Given the description of an element on the screen output the (x, y) to click on. 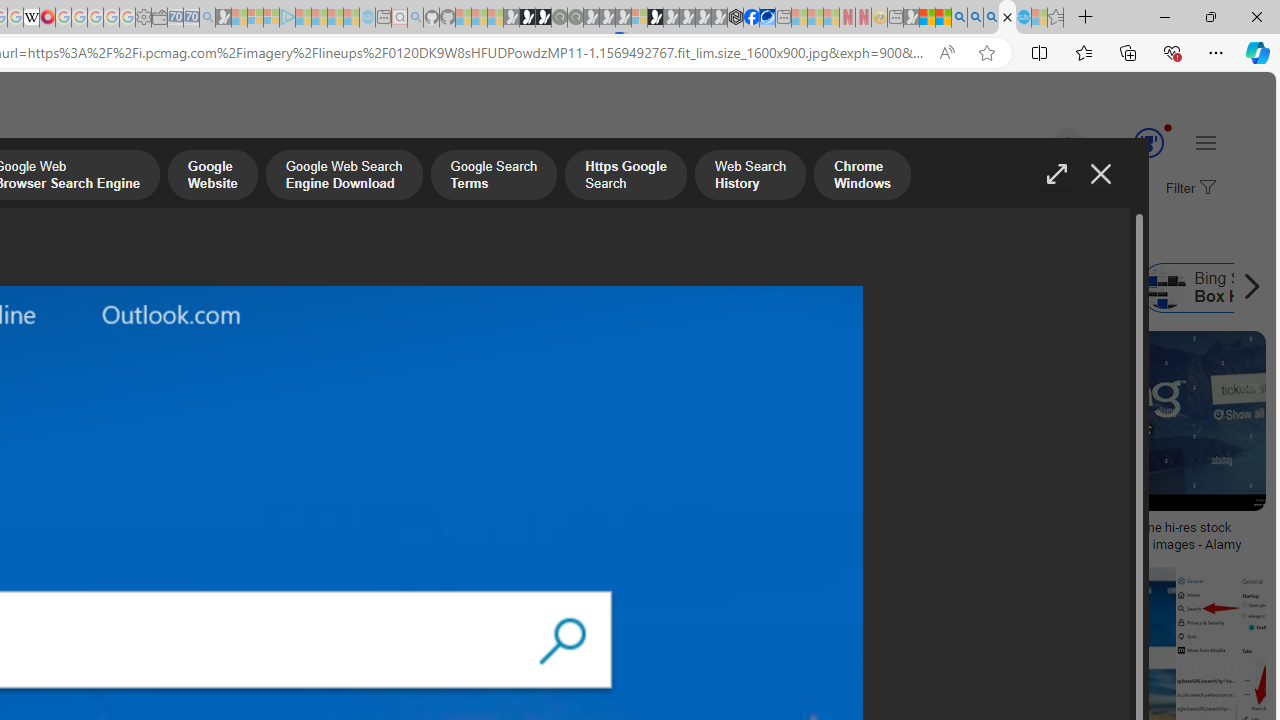
Target page - Wikipedia (31, 17)
Web Search History (749, 177)
Nordace | Facebook (751, 17)
Bing Web (881, 287)
Full screen (1055, 173)
Microsoft Rewards 84 (1130, 143)
Google Website (212, 177)
